Given the description of an element on the screen output the (x, y) to click on. 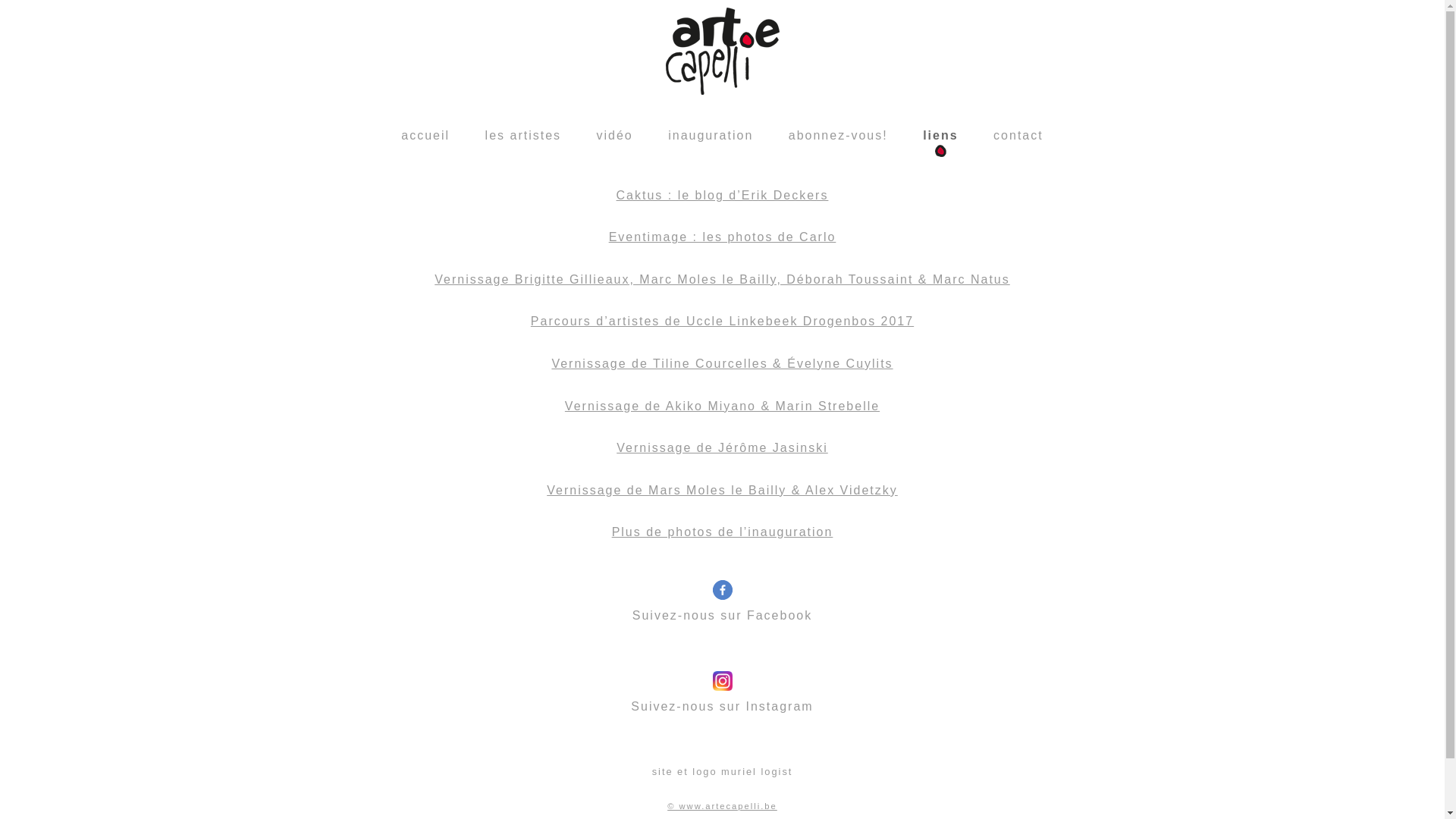
liens Element type: text (939, 139)
inauguration Element type: text (710, 135)
Suivez-nous sur Instagram Element type: text (722, 681)
Vernissage de Akiko Miyano & Marin Strebelle Element type: text (721, 405)
Eventimage : les photos de Carlo Element type: text (722, 236)
abonnez-vous! Element type: text (838, 135)
site et logo muriel logist Element type: text (722, 771)
Suivez-nous sur Facebook Element type: text (722, 590)
les artistes Element type: text (523, 135)
Vernissage de Mars Moles le Bailly & Alex Videtzky Element type: text (721, 489)
accueil Element type: text (425, 135)
contact Element type: text (1018, 135)
